Given the description of an element on the screen output the (x, y) to click on. 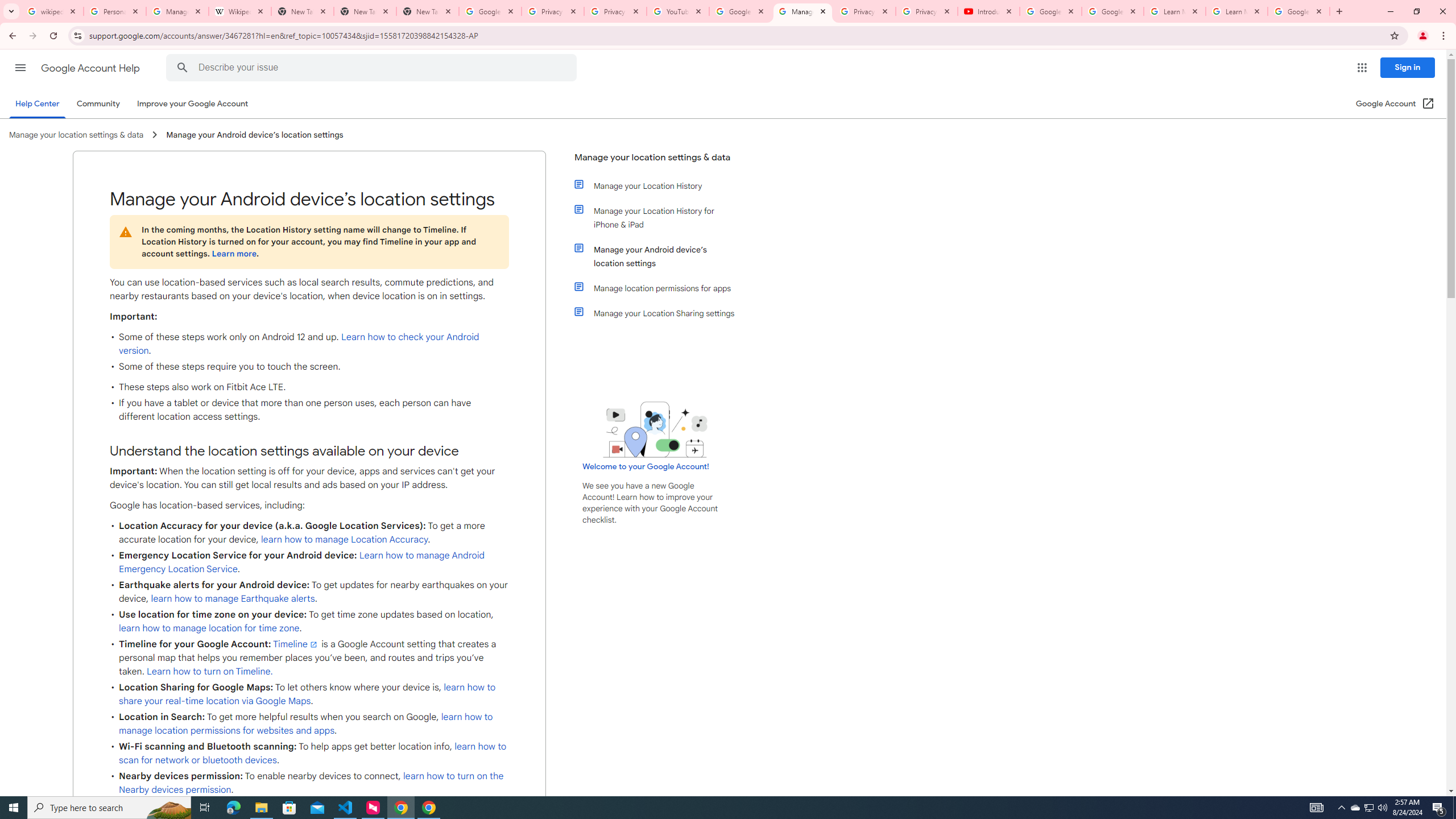
learn how to manage Earthquake alerts (232, 598)
learn how to manage Location Accuracy (344, 539)
Google Account Help (91, 68)
Improve your Google Account (192, 103)
Search Help Center (181, 67)
Manage your Location History (661, 185)
Google Account (1298, 11)
learn how to share your real-time location via Google Maps (307, 694)
Welcome to your Google Account! (645, 466)
Google Account (Open in a new window) (1395, 103)
